Given the description of an element on the screen output the (x, y) to click on. 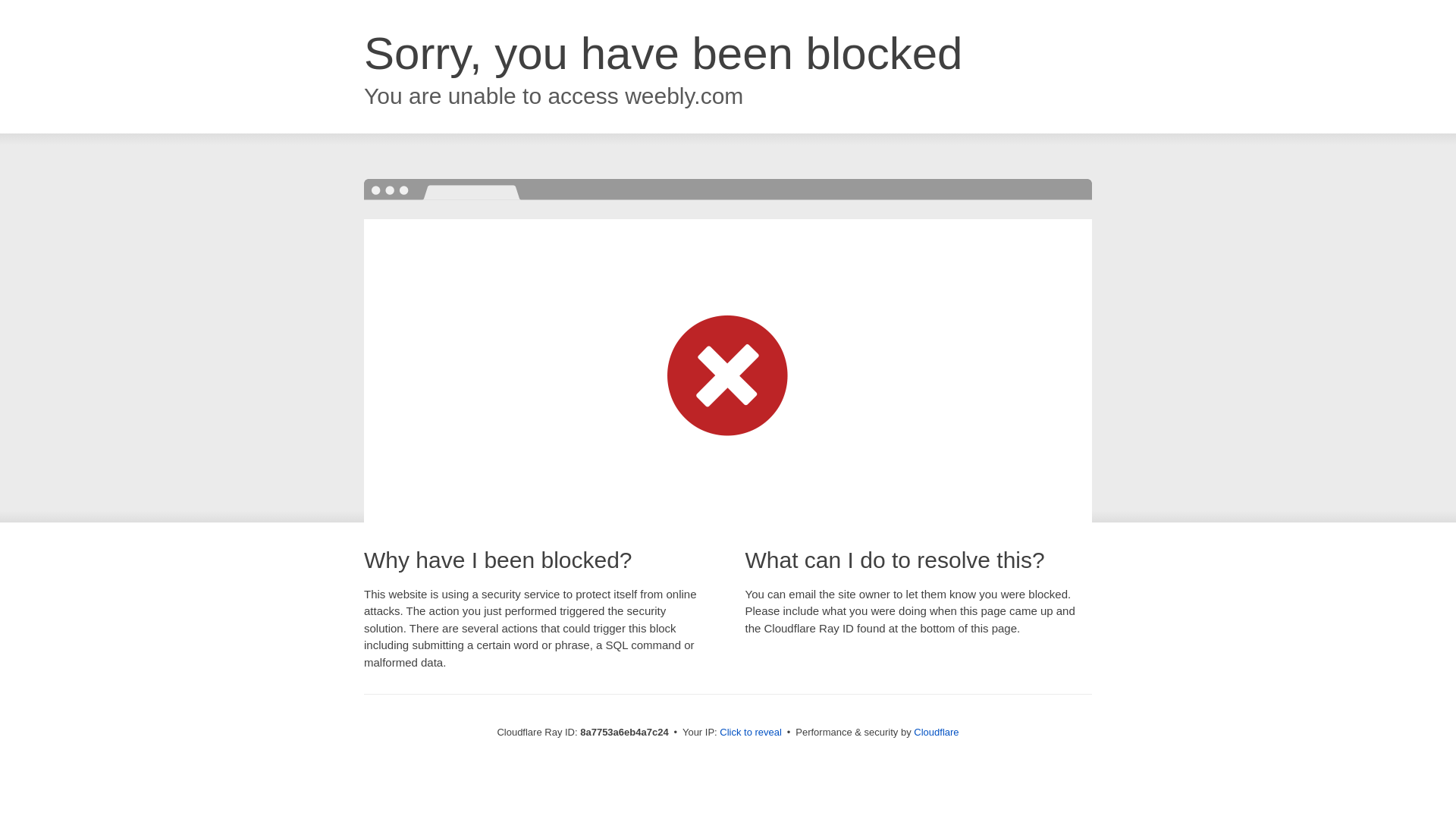
Cloudflare (936, 731)
Click to reveal (750, 732)
